Given the description of an element on the screen output the (x, y) to click on. 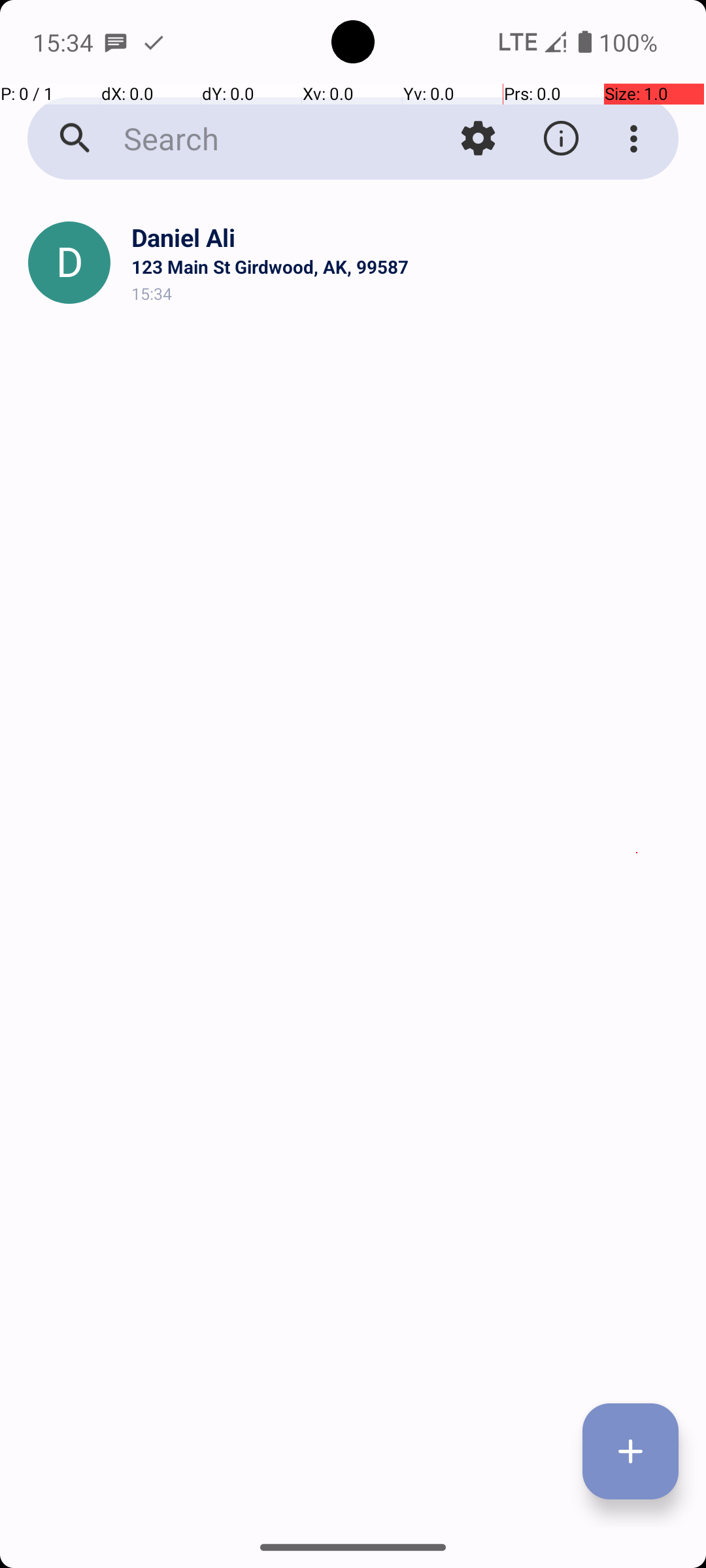
123 Main St Girdwood, AK, 99587 Element type: android.widget.TextView (408, 266)
